Given the description of an element on the screen output the (x, y) to click on. 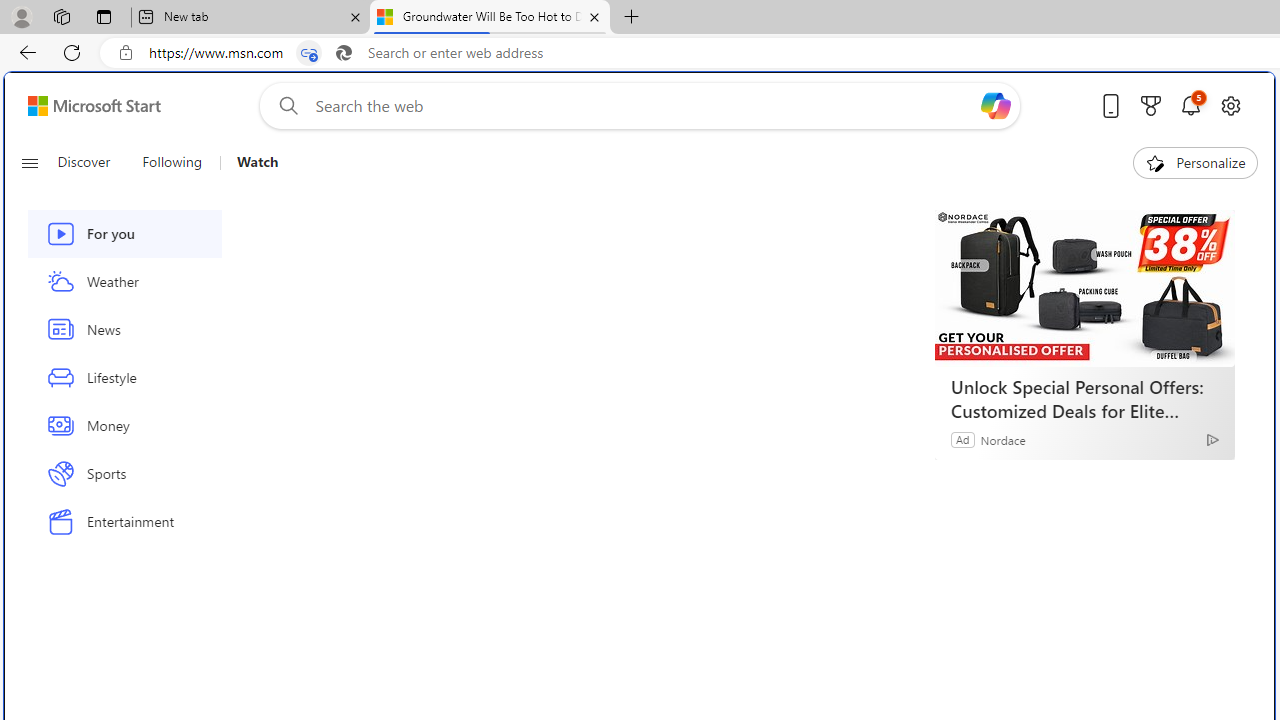
Personalize (1195, 162)
To get missing image descriptions, open the context menu. (1155, 162)
Skip to footer (82, 105)
Search icon (343, 53)
Web search (283, 105)
Open settings (1230, 105)
